Given the description of an element on the screen output the (x, y) to click on. 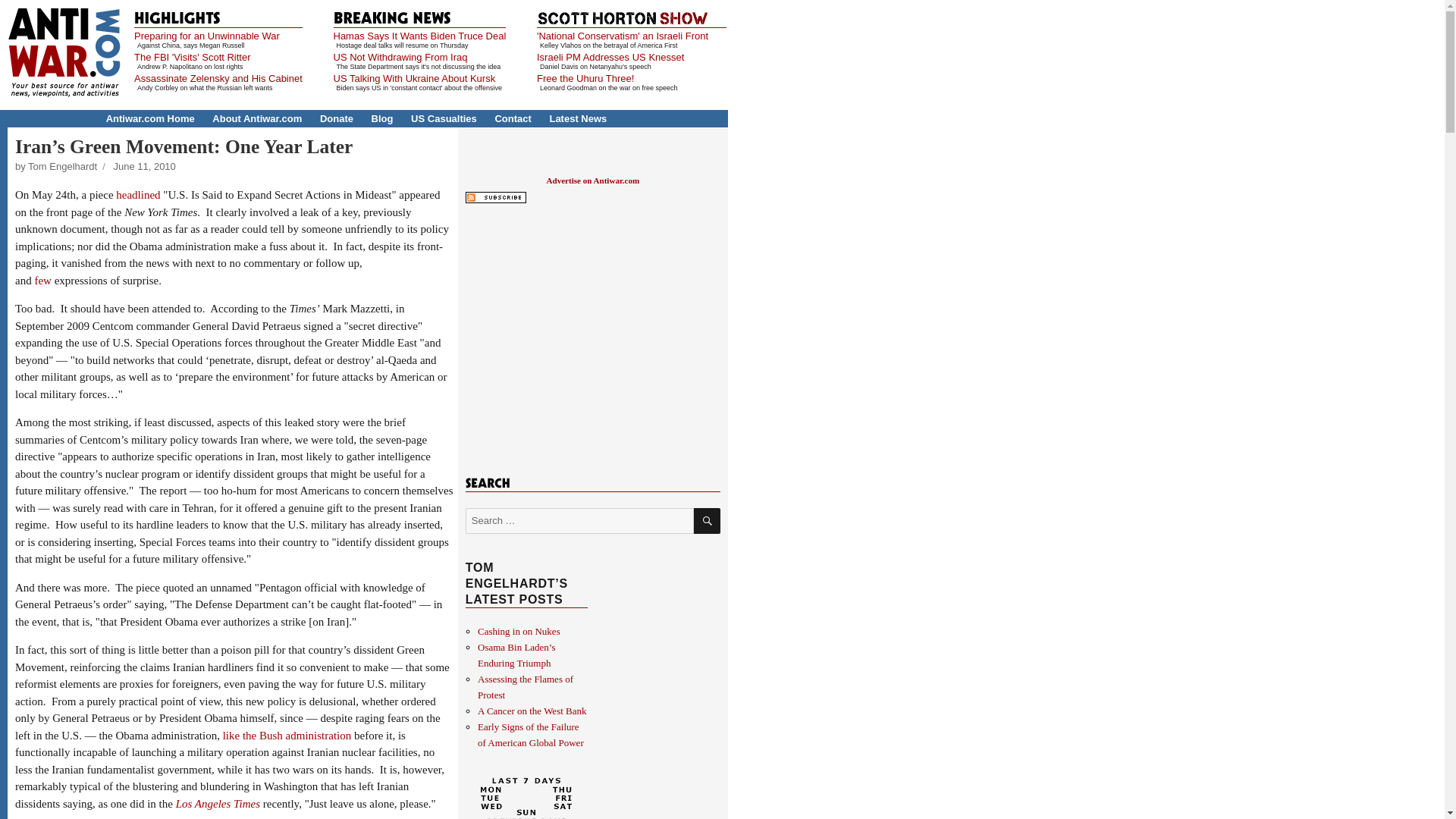
US Not Withdrawing From Iraq (400, 57)
The FBI 'Visits' Scott Ritter (191, 57)
Assassinate Zelensky and His Cabinet (217, 78)
About Antiwar.com (256, 118)
like the Bush administration (287, 735)
Donate (336, 118)
Tom Engelhardt (62, 165)
US Casualties (443, 118)
Antiwar.com Home (150, 118)
US Talking With Ukraine About Kursk (414, 78)
